Given the description of an element on the screen output the (x, y) to click on. 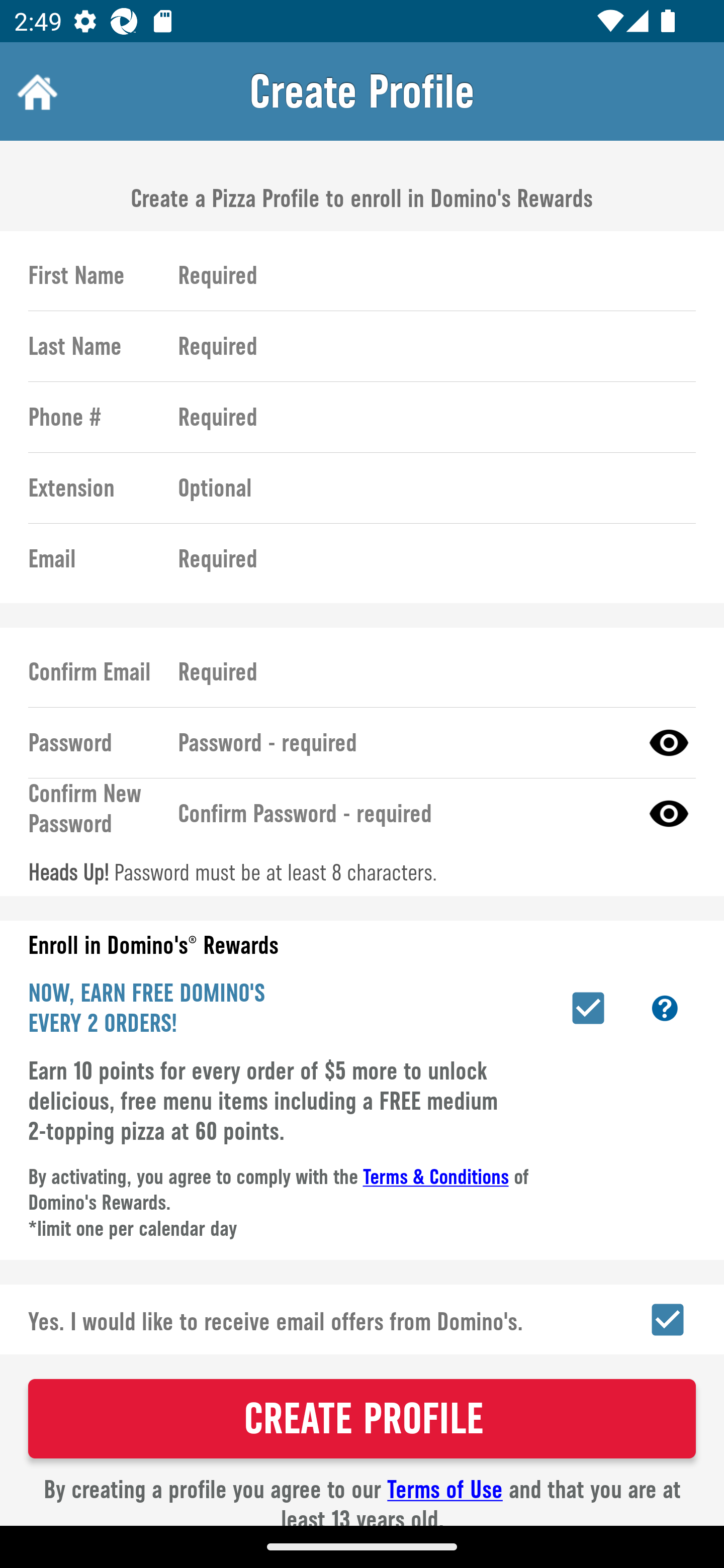
Home (35, 91)
Required First Name is required. 
 (427, 274)
Required Last Name is required. 
 (427, 345)
Required Phone Number is required. 
 (427, 416)
Optional Phone extension, optional (427, 488)
Required Email is required. 
 (427, 558)
Required Confirm Email Address (427, 671)
Password - required (401, 742)
Show Password (668, 742)
Confirm Password - required (401, 812)
Show Password (668, 812)
Enroll in Piece of the Pie Rewards (588, 1008)
CREATE PROFILE (361, 1418)
